Given the description of an element on the screen output the (x, y) to click on. 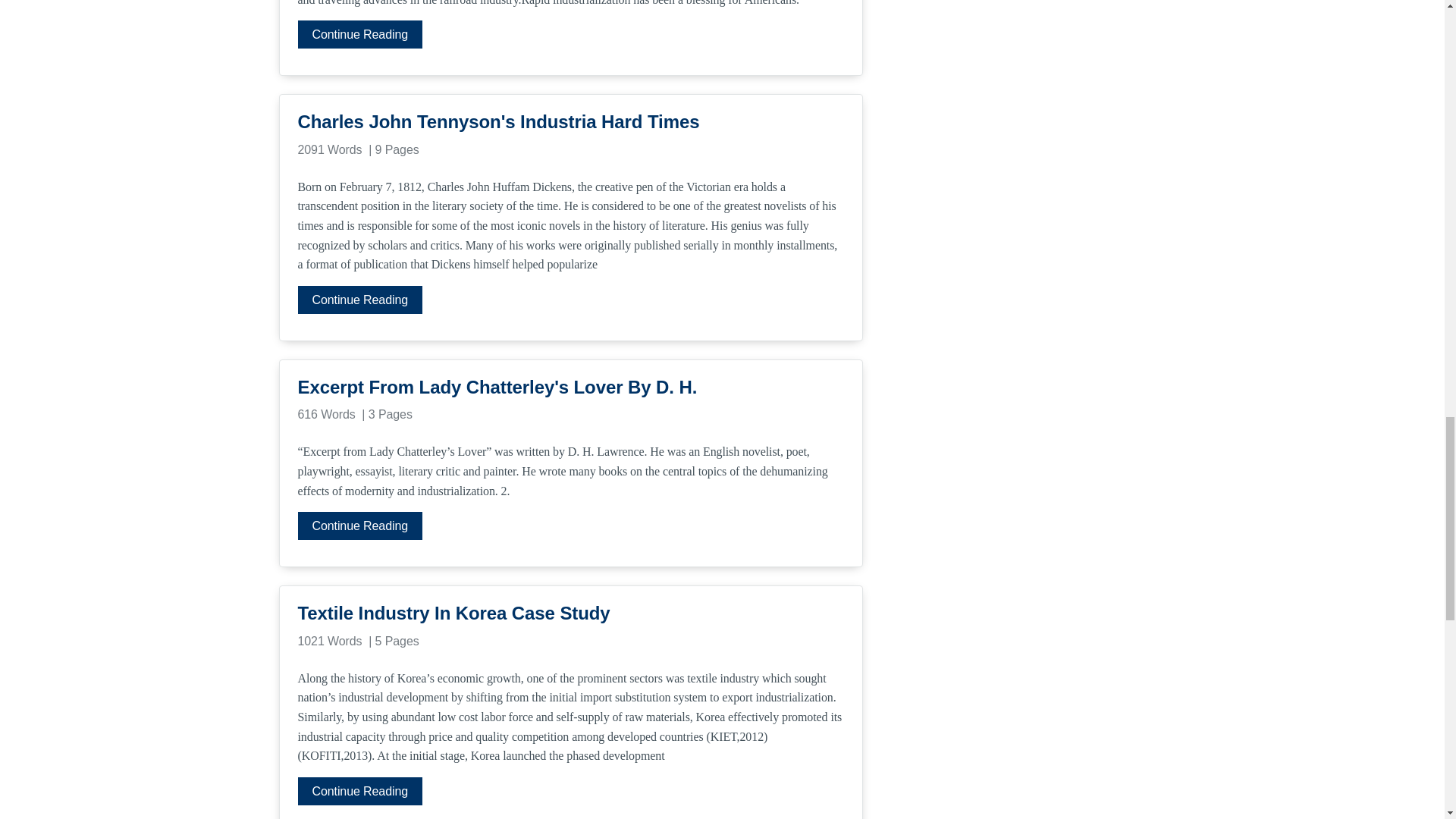
Continue Reading (359, 525)
Textile Industry In Korea Case Study (570, 613)
Continue Reading (359, 34)
Continue Reading (359, 791)
Charles John Tennyson's Industria Hard Times (570, 121)
Excerpt From Lady Chatterley's Lover By D. H. (570, 387)
Continue Reading (359, 299)
